Given the description of an element on the screen output the (x, y) to click on. 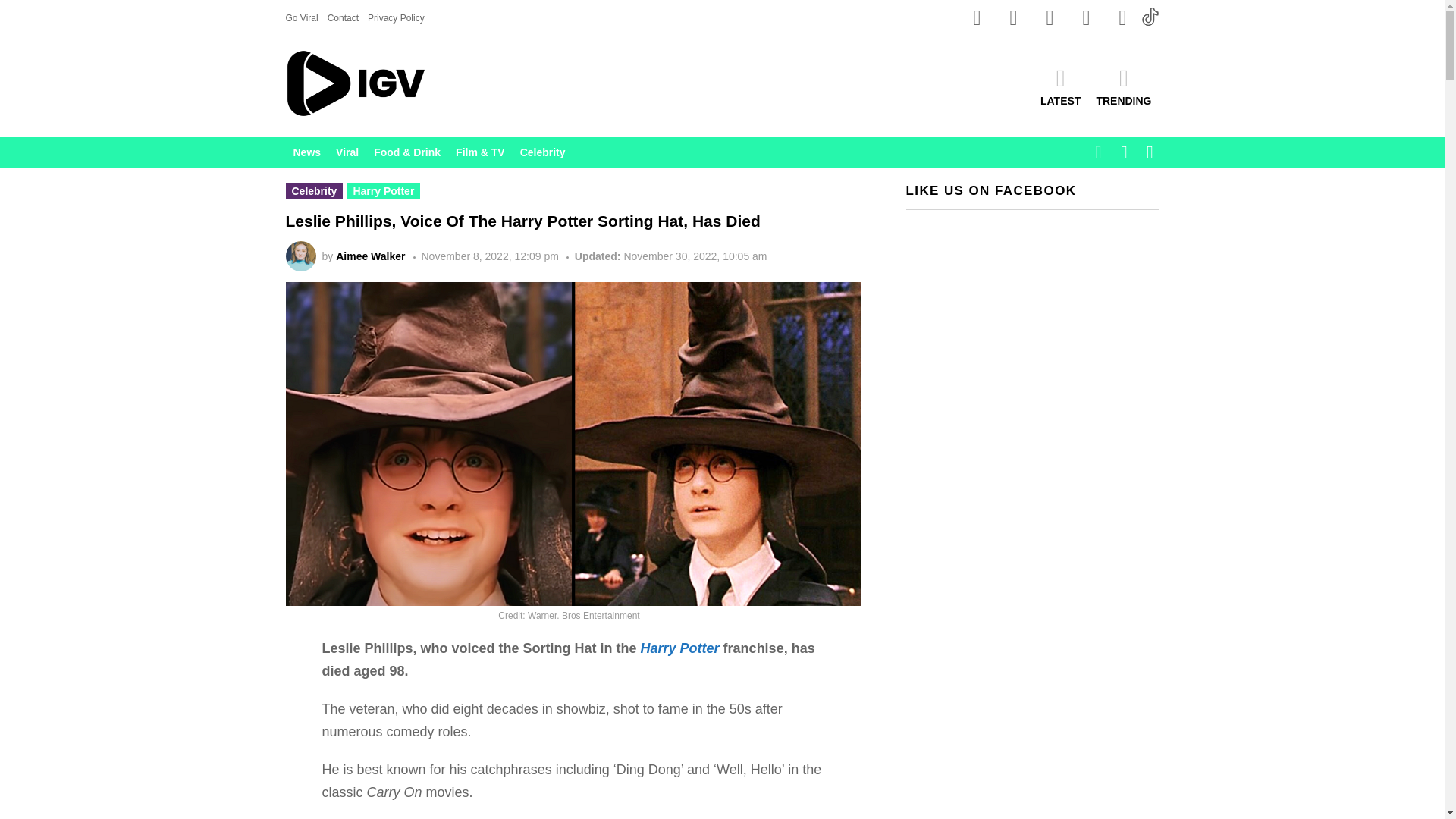
Posts by Aimee Walker (370, 256)
youtube (1048, 18)
News (307, 151)
pinterest (1121, 18)
twitter (1085, 18)
facebook (976, 18)
Contact (342, 17)
Celebrity (542, 151)
TRENDING (1122, 86)
Go Viral (301, 17)
Privacy Policy (396, 17)
Viral (347, 151)
LATEST (1059, 86)
tiktok (1149, 16)
instagram (1012, 18)
